Given the description of an element on the screen output the (x, y) to click on. 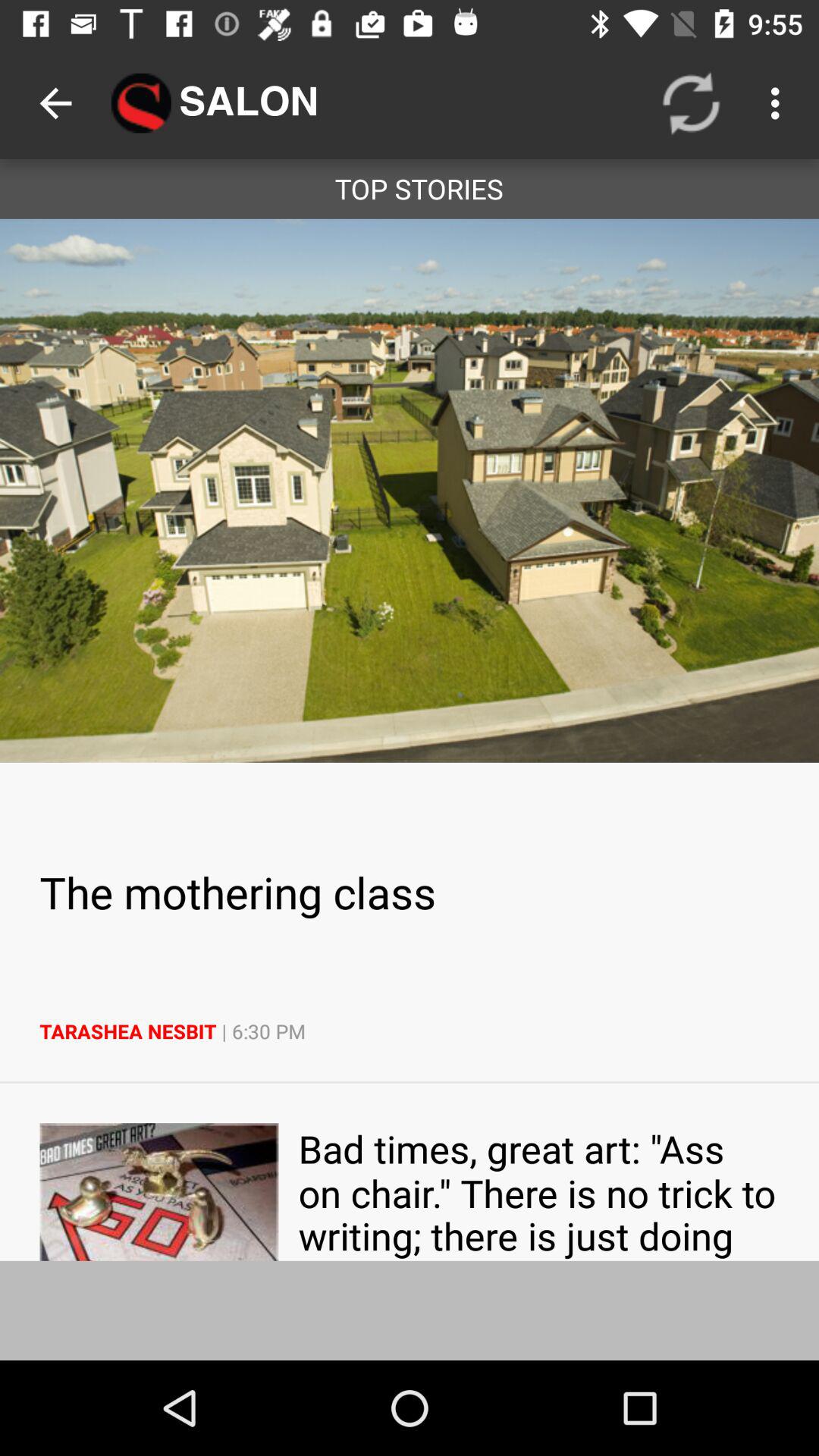
press the bad times great app (538, 1191)
